Given the description of an element on the screen output the (x, y) to click on. 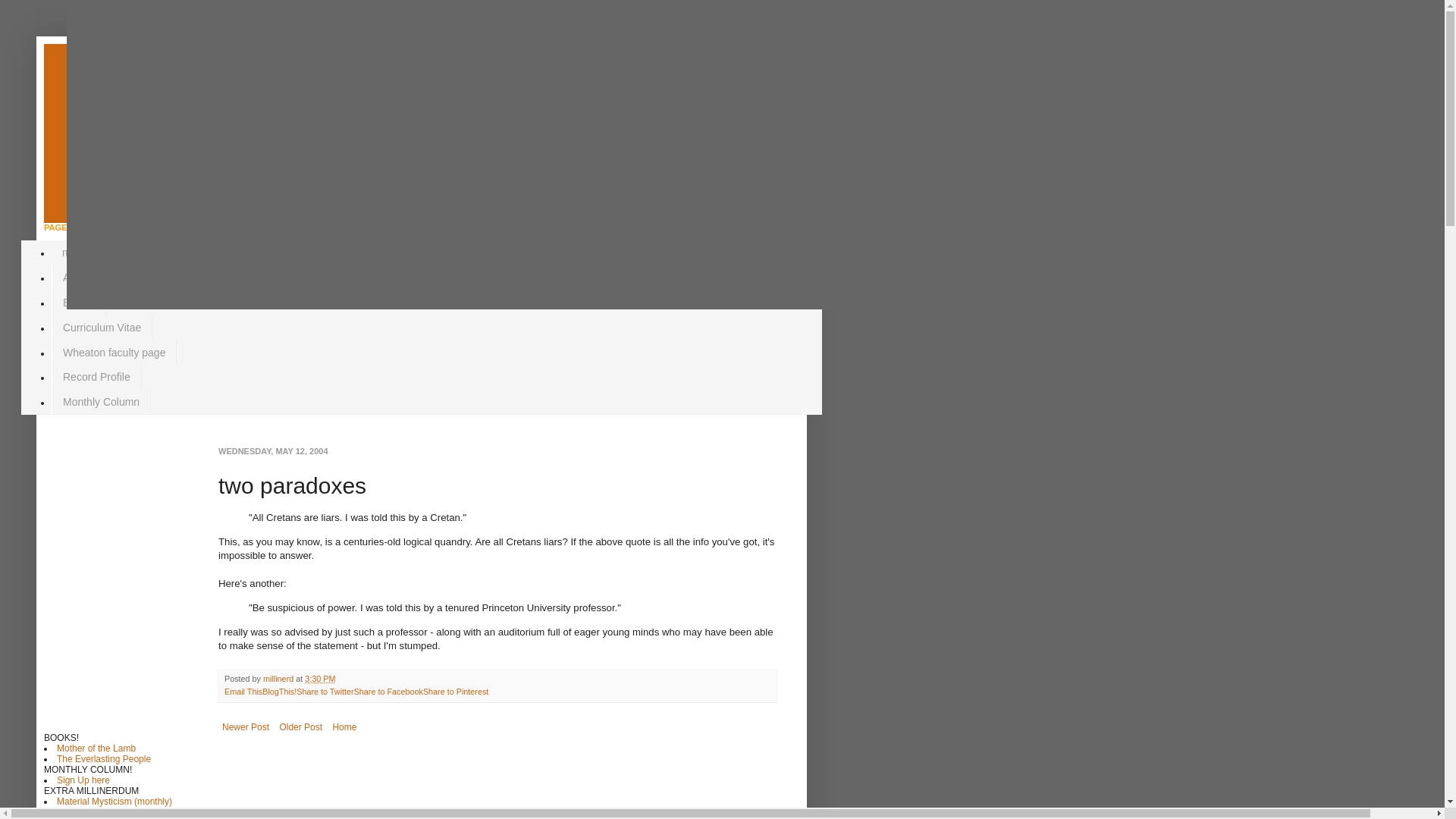
Email This (243, 691)
Curriculum Vitae (101, 326)
Share to Pinterest (455, 691)
Share to Facebook (388, 691)
Share to Pinterest (455, 691)
Black Christmas (89, 818)
millinerd.com (92, 252)
Email This (243, 691)
Home (344, 727)
BlogThis! (279, 691)
Books! (78, 302)
permanent link (319, 678)
Monthly Column (100, 401)
The Tree of India (90, 811)
Older Post (300, 727)
